Given the description of an element on the screen output the (x, y) to click on. 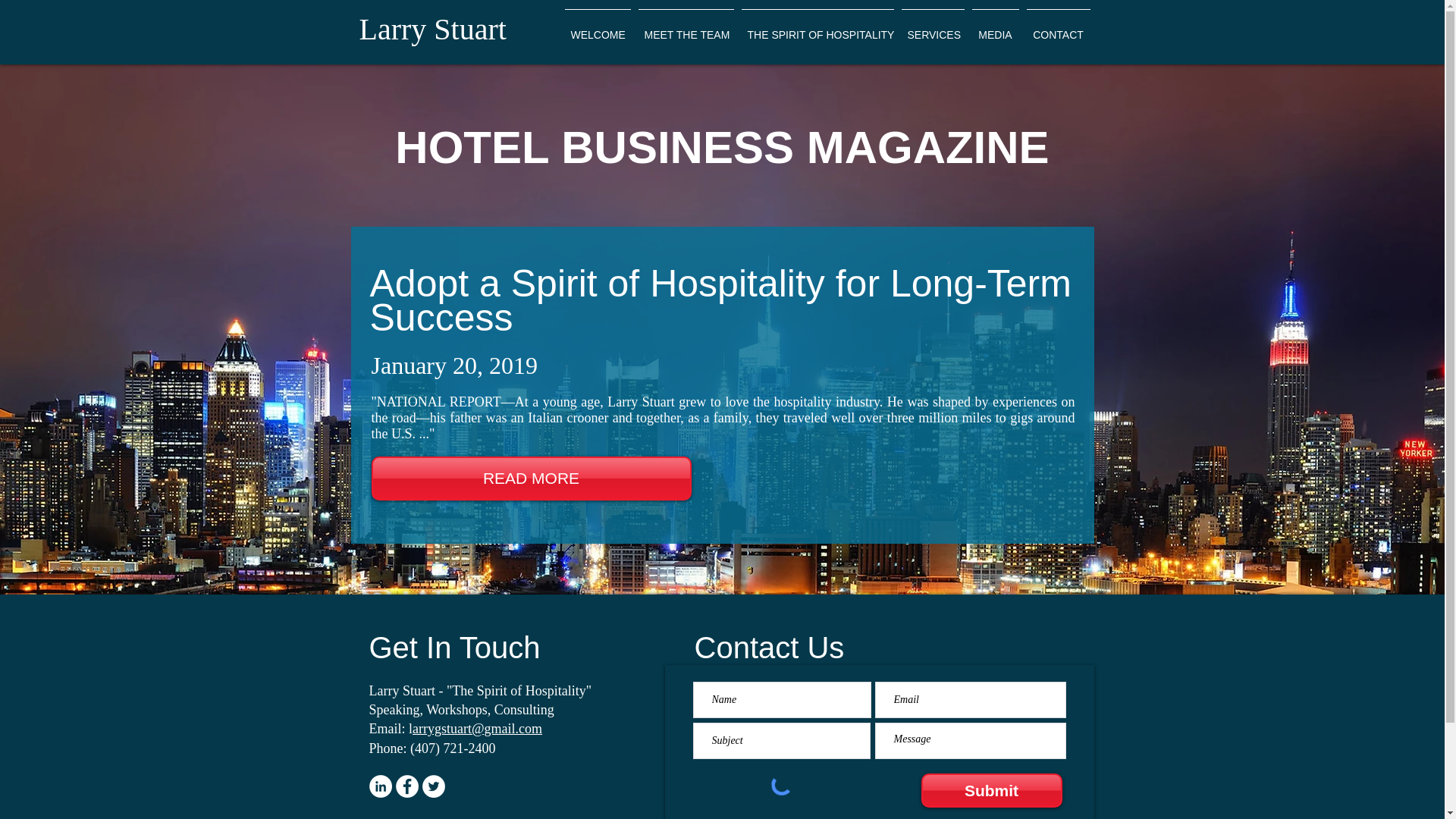
Submit (990, 790)
CONTACT (1057, 27)
THE SPIRIT OF HOSPITALITY (816, 27)
Larry Stuart (432, 28)
WELCOME (597, 27)
READ MORE (531, 478)
